Given the description of an element on the screen output the (x, y) to click on. 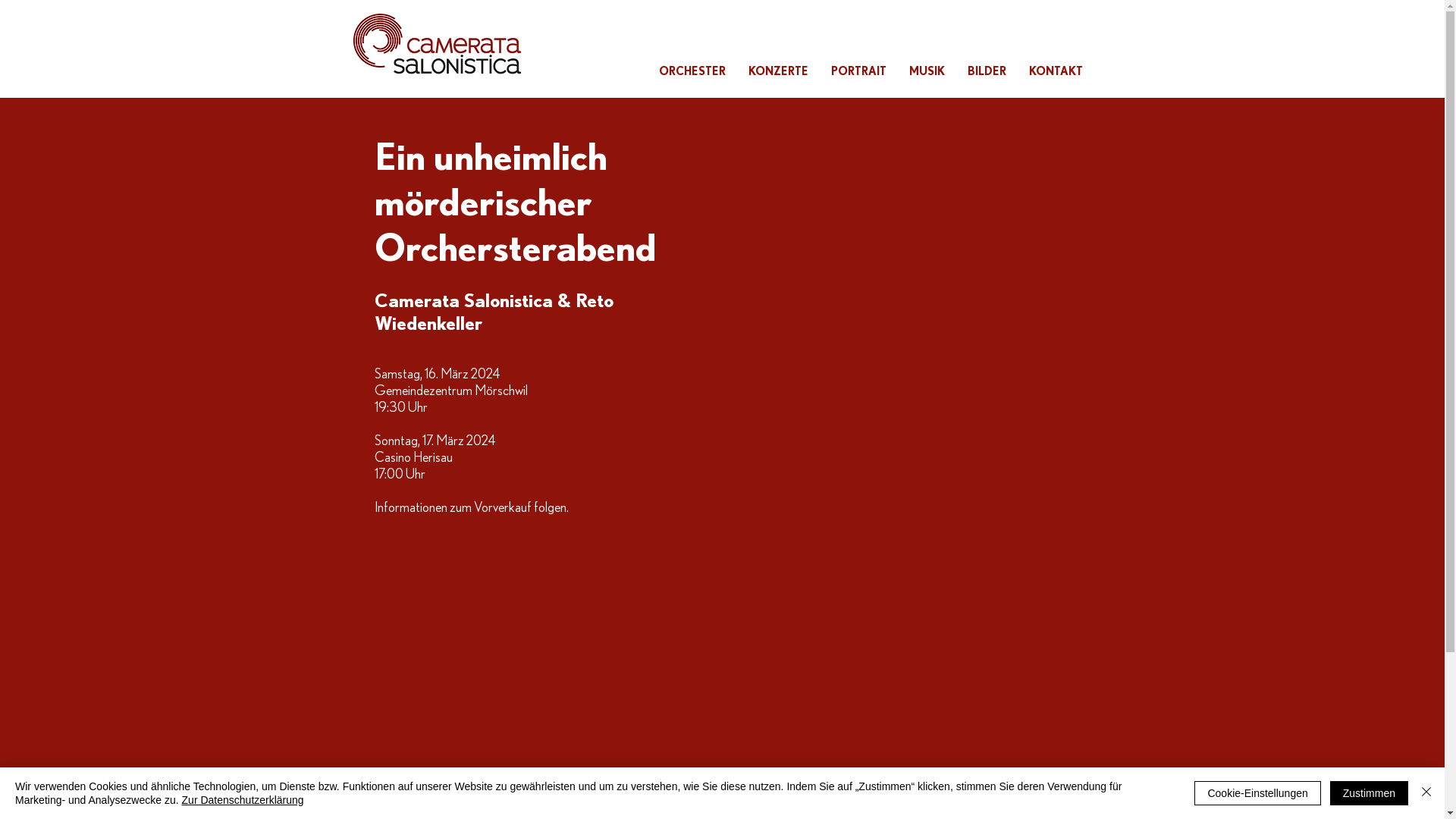
PORTRAIT Element type: text (858, 71)
MUSIK Element type: text (926, 71)
ORCHESTER Element type: text (692, 71)
BILDER Element type: text (985, 71)
KONTAKT Element type: text (1055, 71)
Cookie-Einstellungen Element type: text (1257, 793)
Zustimmen Element type: text (1369, 793)
KONZERTE Element type: text (778, 71)
